Given the description of an element on the screen output the (x, y) to click on. 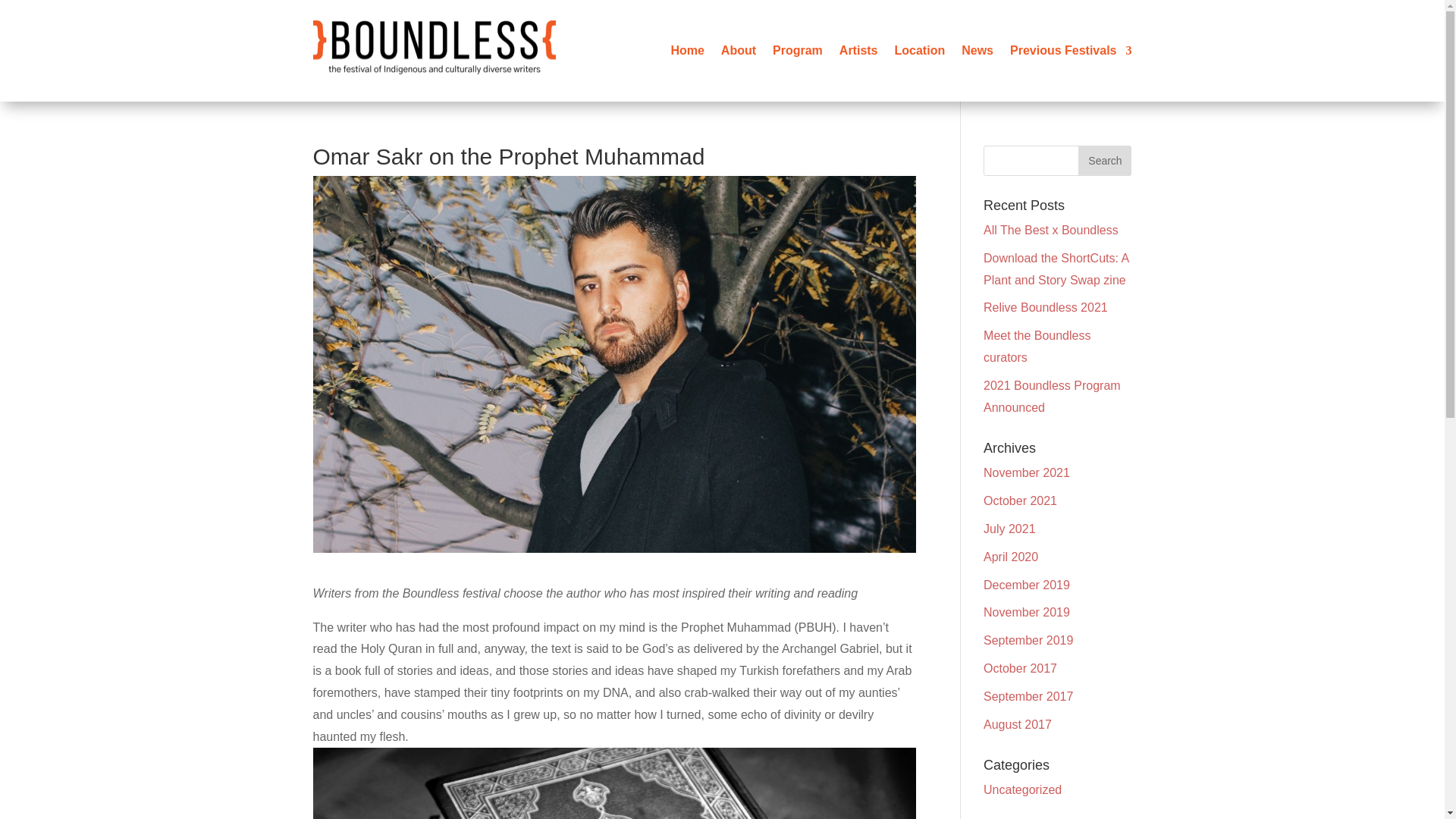
Download the ShortCuts: A Plant and Story Swap zine (1056, 268)
November 2019 (1027, 612)
Uncategorized (1022, 789)
December 2019 (1027, 584)
October 2017 (1020, 667)
Meet the Boundless curators (1037, 346)
October 2021 (1020, 500)
September 2019 (1028, 640)
Search (1104, 160)
September 2017 (1028, 696)
